Given the description of an element on the screen output the (x, y) to click on. 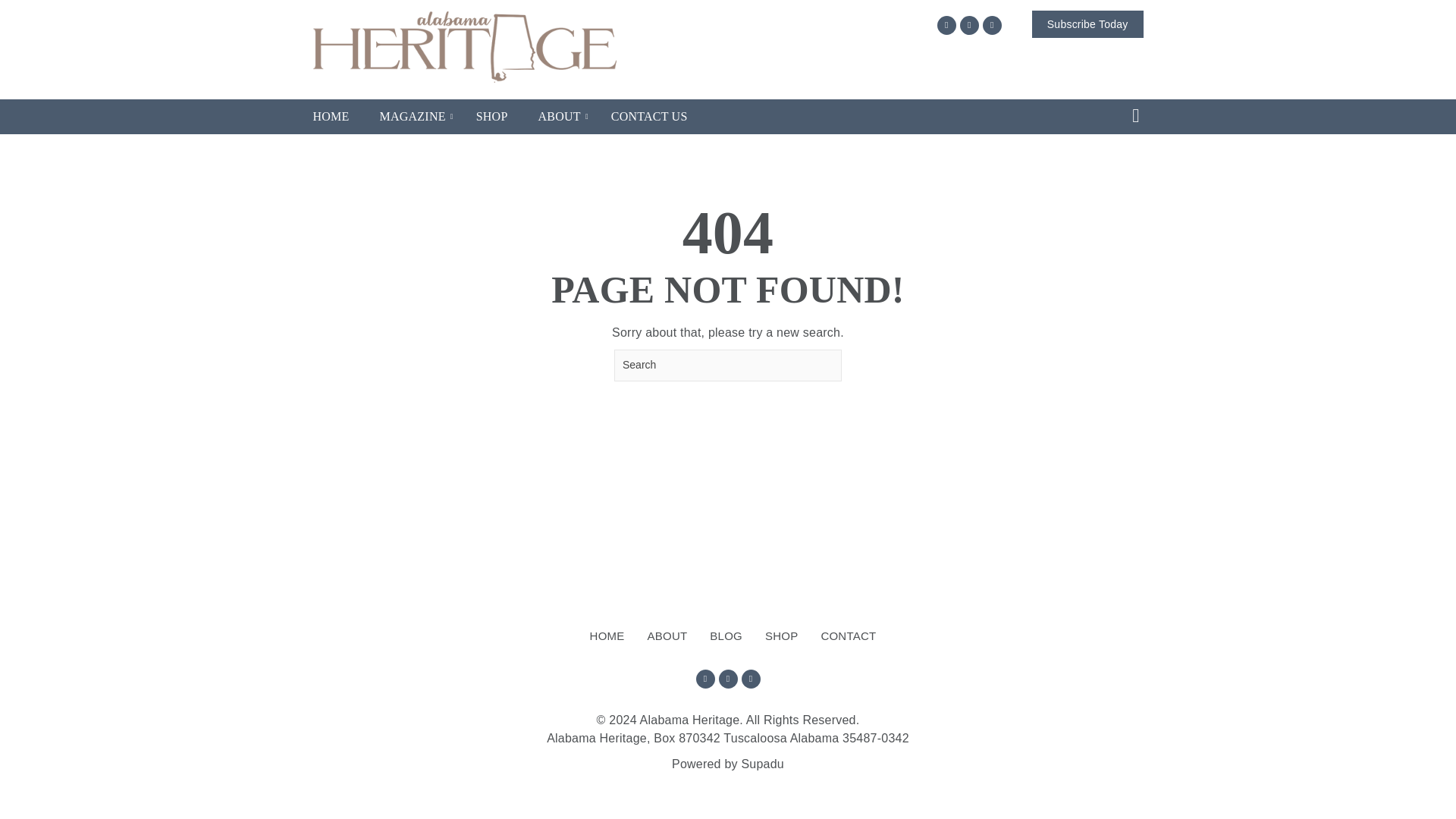
Subscribe Today (1087, 23)
SHOP (492, 116)
Follow us on Instagram (968, 25)
SHOP (781, 636)
Follow us on LinkedIn (991, 25)
Follow us on LinkedIn (750, 678)
Search (727, 365)
HOME (606, 636)
ABOUT (667, 636)
Follow us on Facebook (946, 25)
